Given the description of an element on the screen output the (x, y) to click on. 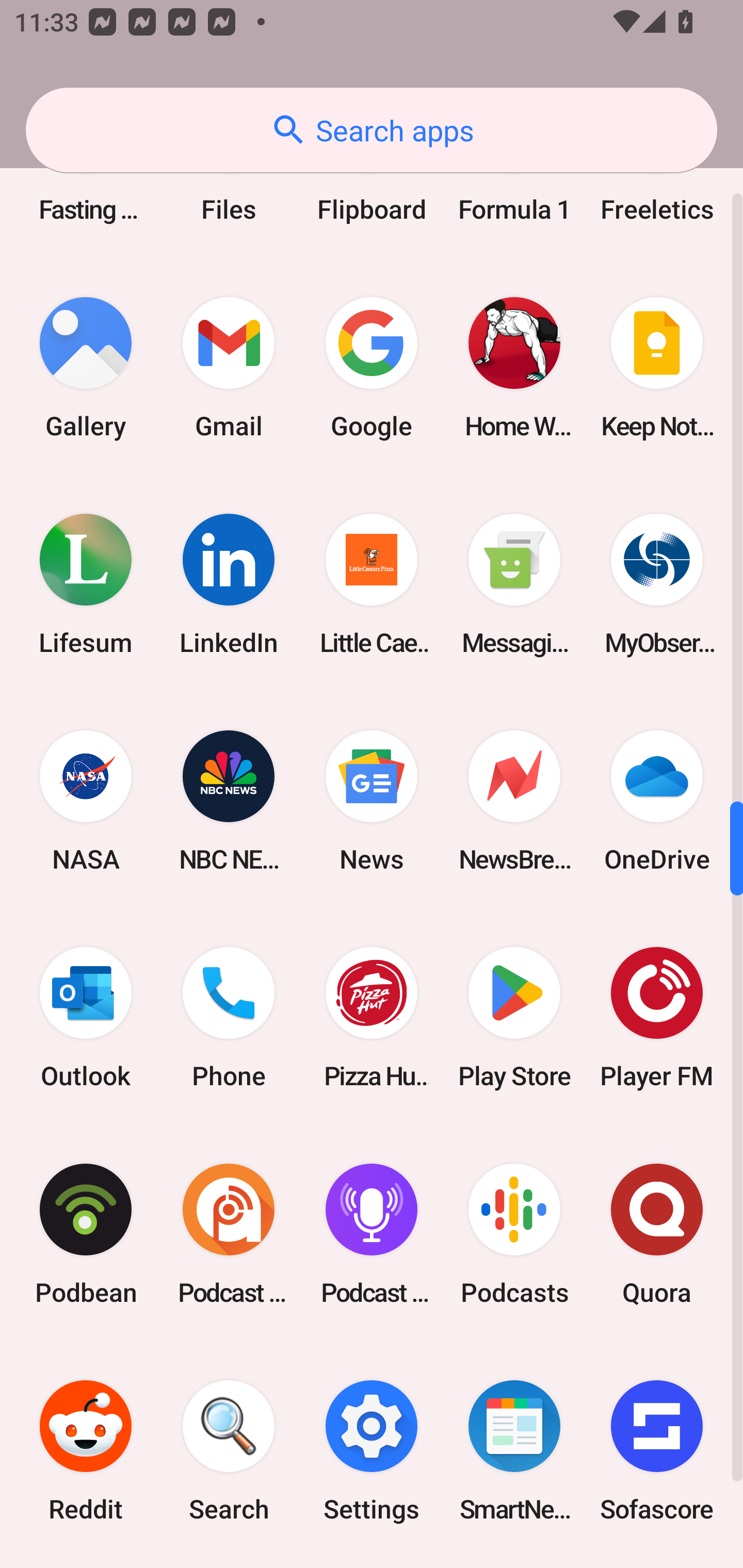
  Search apps (371, 130)
Gallery (85, 367)
Gmail (228, 367)
Google (371, 367)
Home Workout (514, 367)
Keep Notes (656, 367)
Lifesum (85, 584)
LinkedIn (228, 584)
Little Caesars Pizza (371, 584)
Messaging (514, 584)
MyObservatory (656, 584)
NASA (85, 801)
NBC NEWS (228, 801)
News (371, 801)
NewsBreak (514, 801)
OneDrive (656, 801)
Outlook (85, 1017)
Phone (228, 1017)
Pizza Hut HK & Macau (371, 1017)
Play Store (514, 1017)
Player FM (656, 1017)
Podbean (85, 1233)
Podcast Addict (228, 1233)
Podcast Player (371, 1233)
Podcasts (514, 1233)
Quora (656, 1233)
Reddit (85, 1450)
Search (228, 1450)
Settings (371, 1450)
SmartNews (514, 1450)
Sofascore (656, 1450)
